Given the description of an element on the screen output the (x, y) to click on. 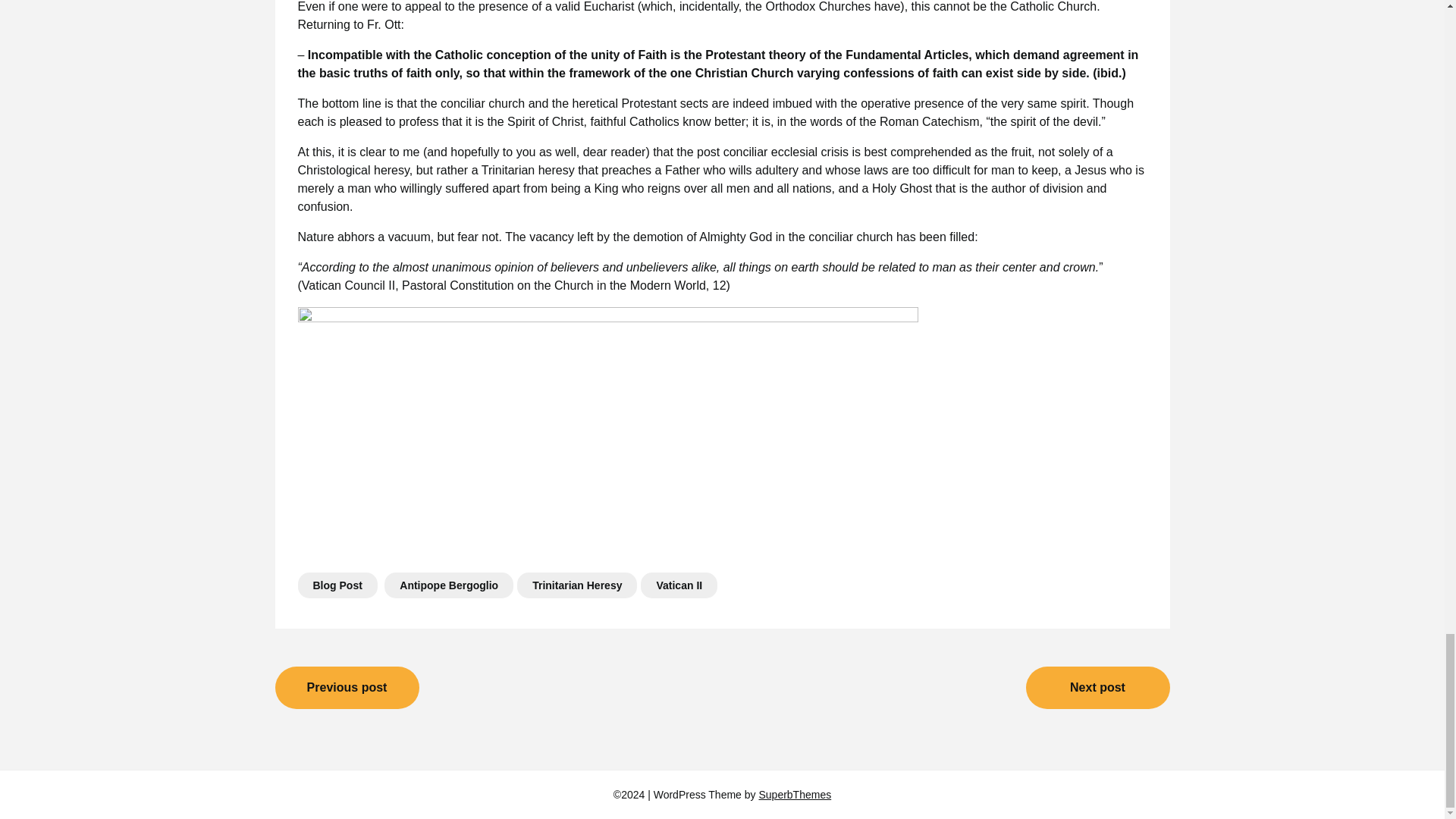
Vatican II (678, 585)
Trinitarian Heresy (576, 585)
SuperbThemes (794, 794)
Next post (1097, 687)
Antipope Bergoglio (448, 585)
Previous post (347, 687)
Blog Post (337, 585)
